Given the description of an element on the screen output the (x, y) to click on. 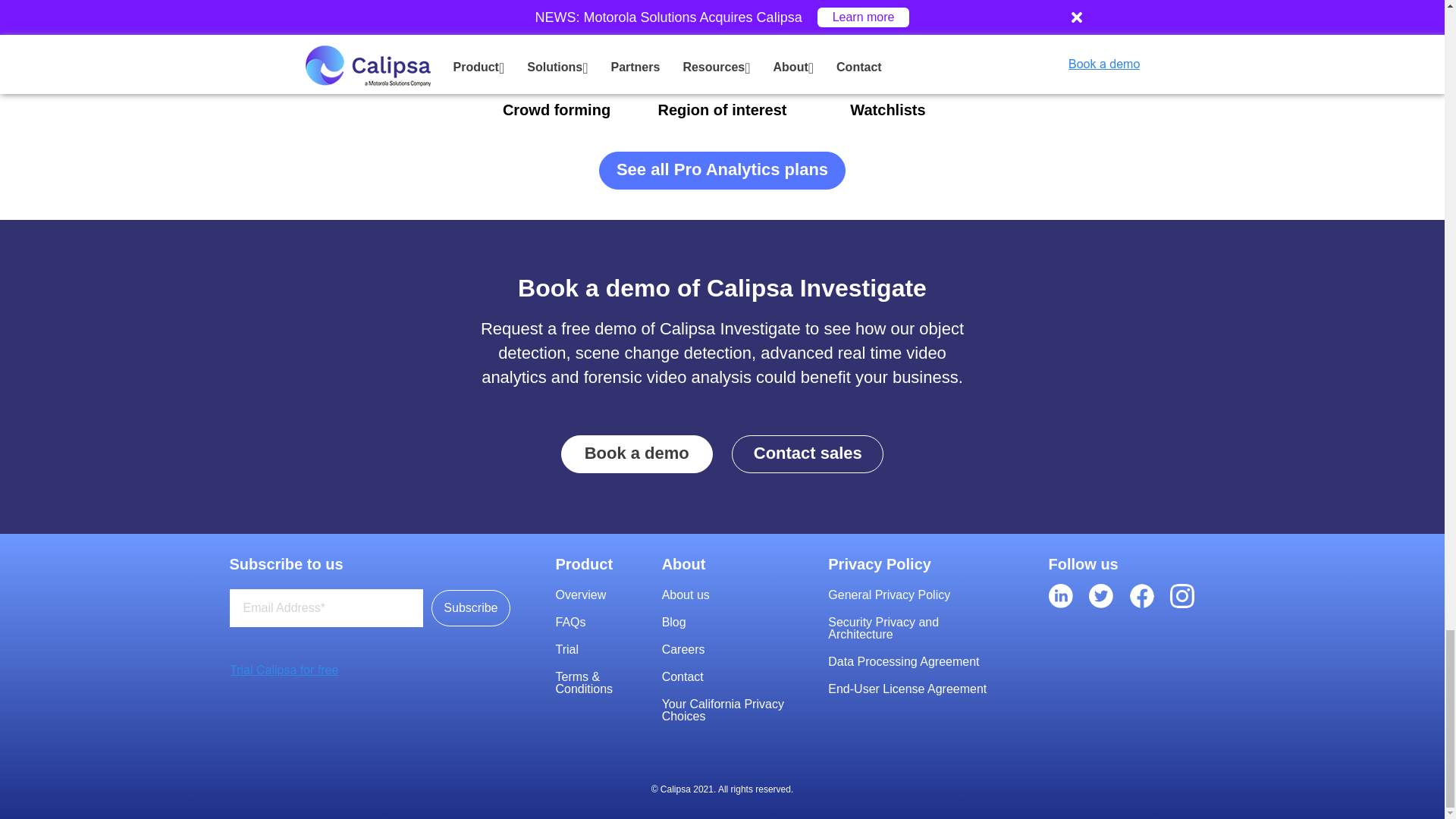
Subscribe (469, 607)
Contact sales (807, 453)
Product (603, 563)
See all Pro Analytics plans (721, 170)
Book a demo (636, 453)
Subscribe (469, 607)
